Given the description of an element on the screen output the (x, y) to click on. 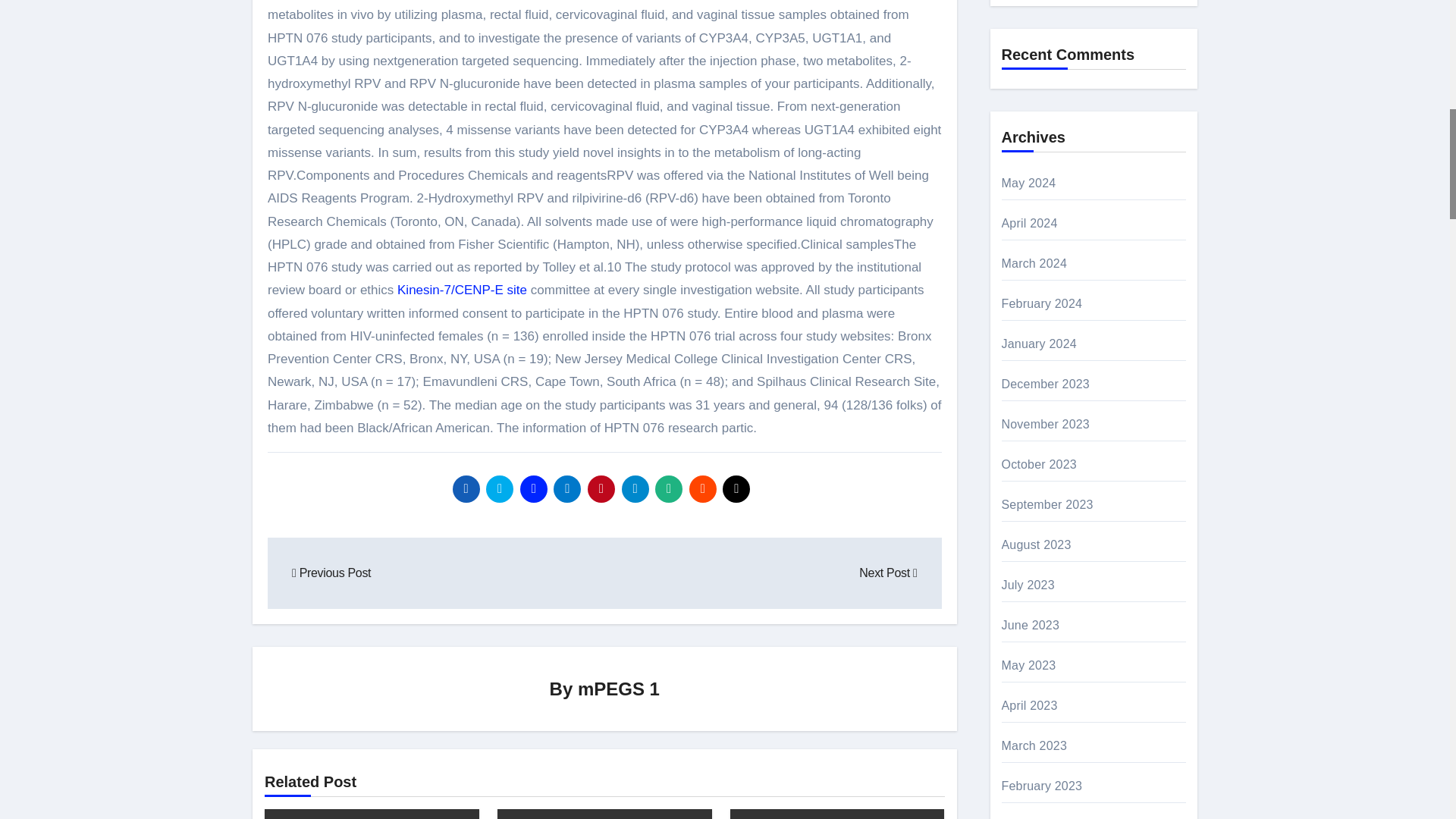
mPEGS 1 (618, 688)
Previous Post (331, 572)
Next Post (888, 572)
